Given the description of an element on the screen output the (x, y) to click on. 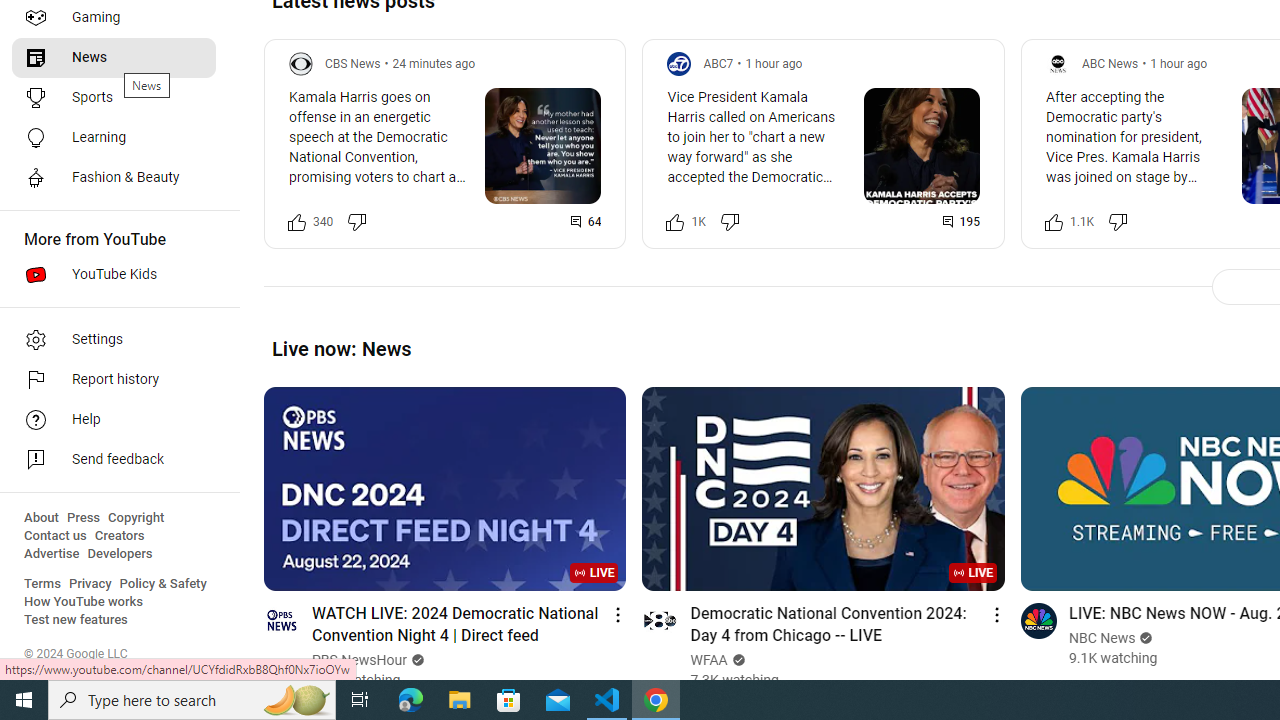
Go to channel (1038, 620)
Press (83, 518)
Dislike this post (1118, 221)
NBC News (1101, 637)
Verified (1144, 637)
ABC News (1110, 63)
YouTube Kids (113, 274)
Like this post along with 1,124 other people (1053, 221)
Report history (113, 380)
1 hour ago (1178, 63)
24 minutes ago (433, 63)
PBS NewsHour (360, 660)
Comment (961, 221)
